Given the description of an element on the screen output the (x, y) to click on. 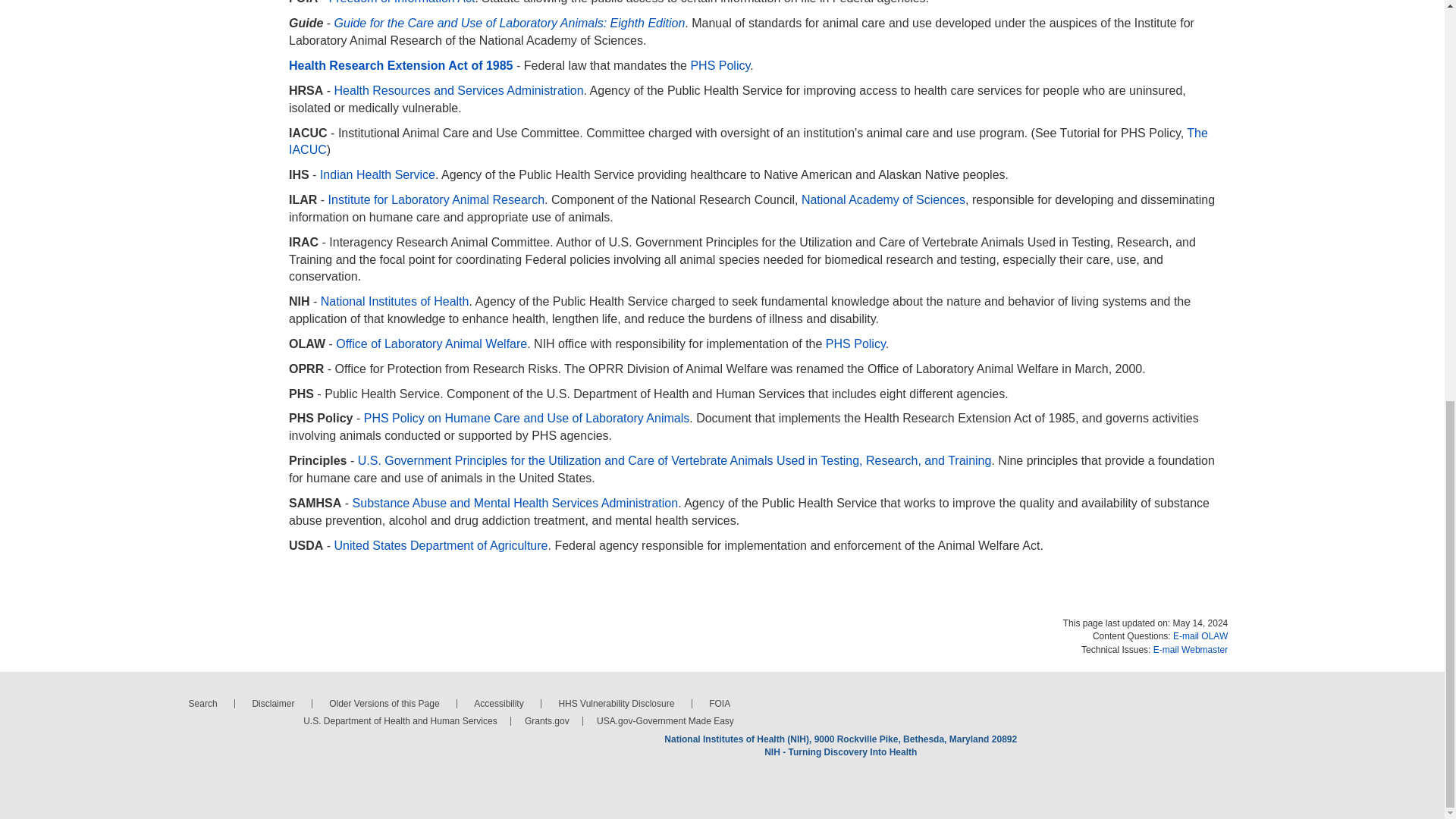
Link to Non-U.S. Government Site (883, 199)
Link to Non-U.S. Government Site (509, 22)
Link to Non-U.S. Government Site (436, 199)
